Given the description of an element on the screen output the (x, y) to click on. 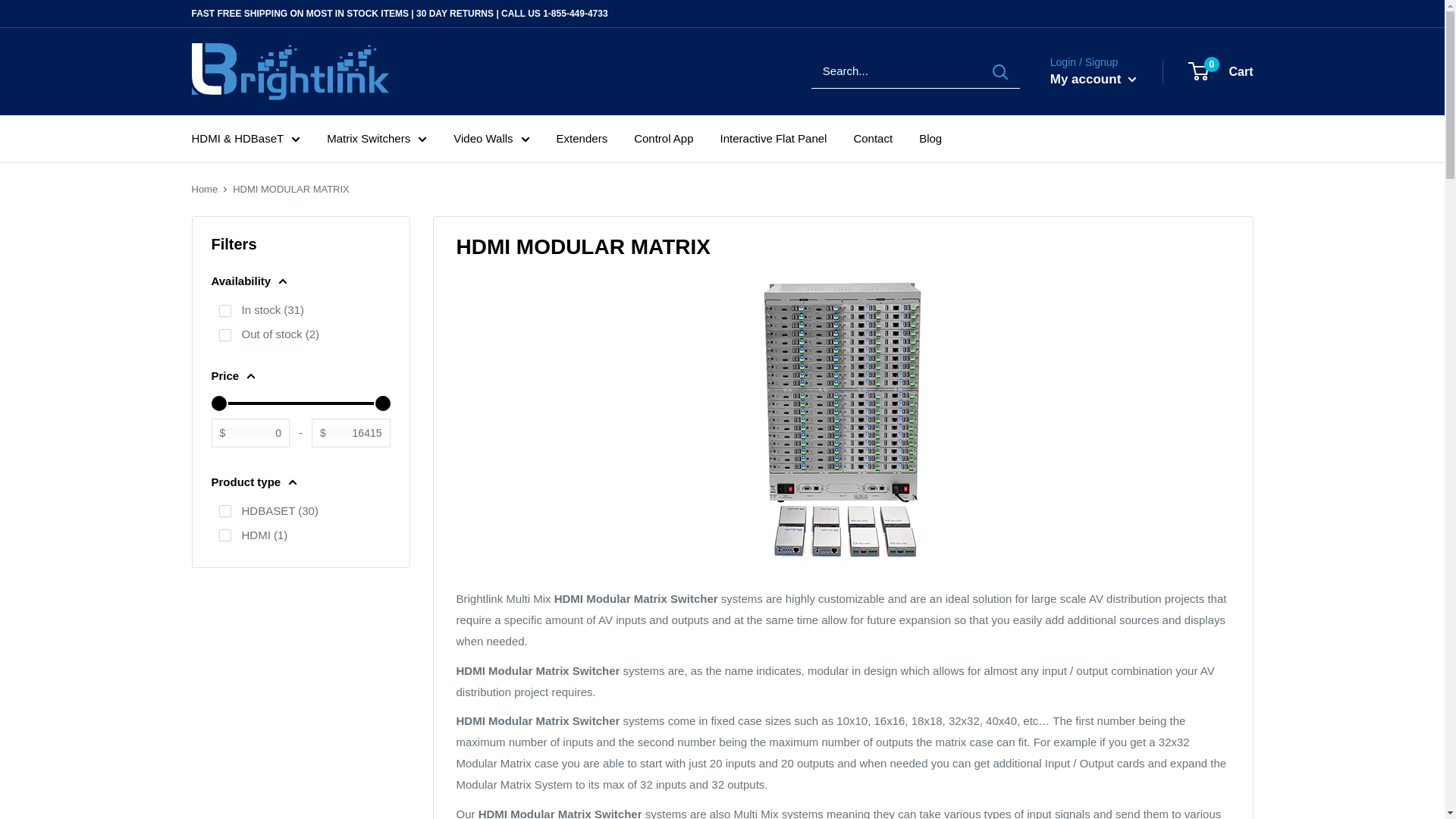
16415 (300, 403)
1 (224, 310)
brightlink pro mix modular matrix (842, 425)
HDBASET (224, 510)
0 (224, 335)
0 (300, 403)
HDMI (224, 535)
30 DAY RETURNS (454, 13)
CALL US 1-855-449-4733 (554, 13)
